Given the description of an element on the screen output the (x, y) to click on. 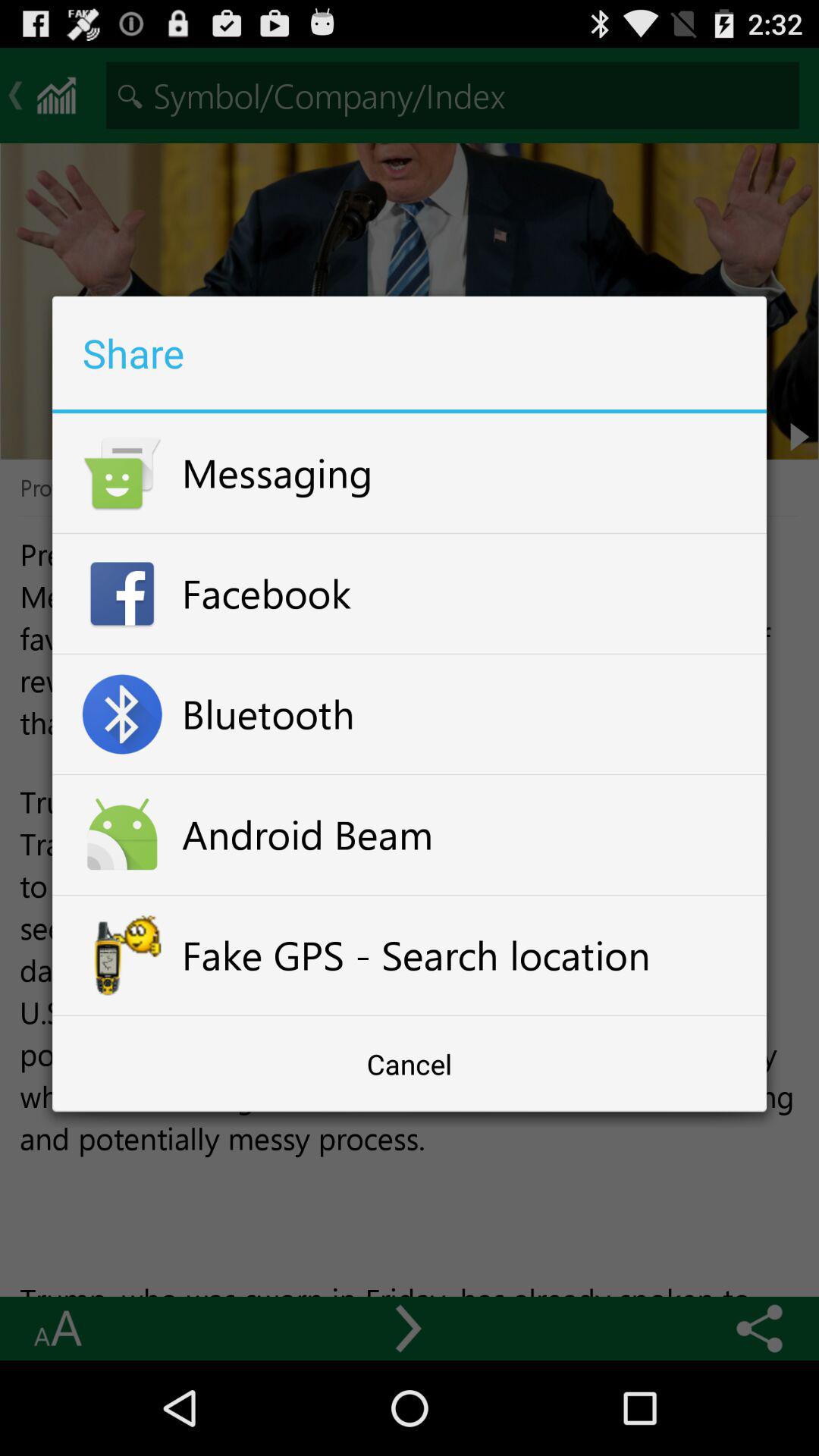
click cancel (409, 1063)
